Given the description of an element on the screen output the (x, y) to click on. 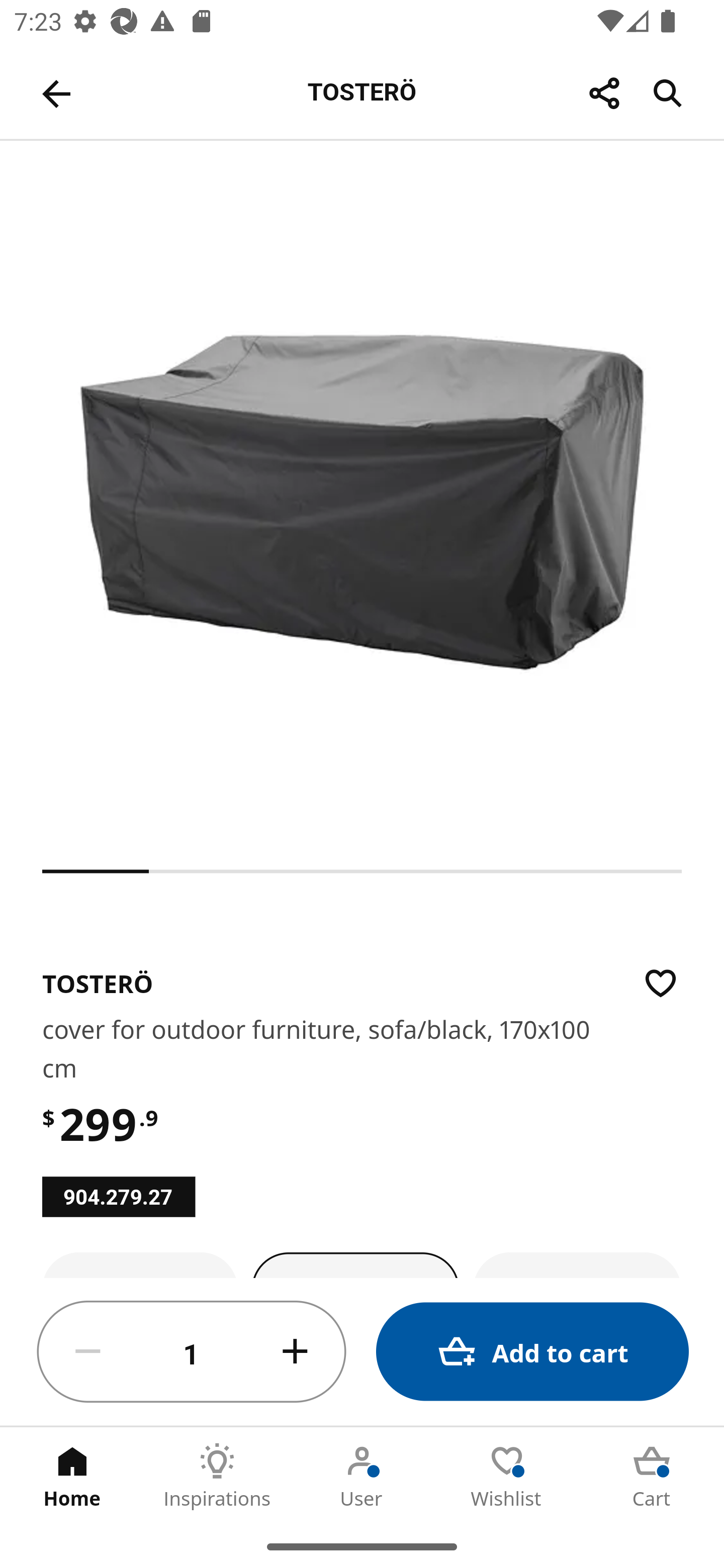
Add to cart (531, 1352)
1 (191, 1352)
Home
Tab 1 of 5 (72, 1476)
Inspirations
Tab 2 of 5 (216, 1476)
User
Tab 3 of 5 (361, 1476)
Wishlist
Tab 4 of 5 (506, 1476)
Cart
Tab 5 of 5 (651, 1476)
